Given the description of an element on the screen output the (x, y) to click on. 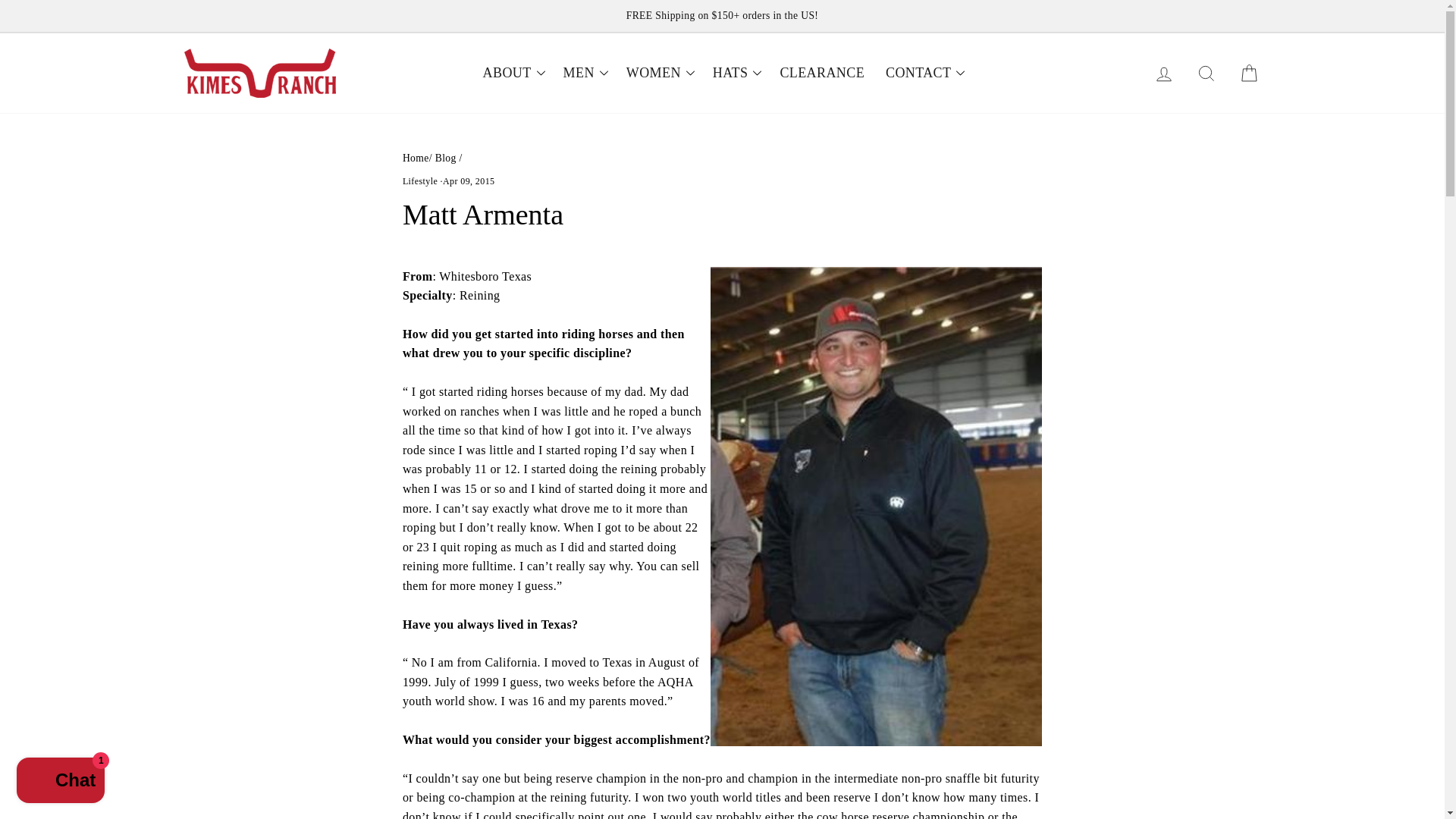
Back to the frontpage (416, 157)
